Given the description of an element on the screen output the (x, y) to click on. 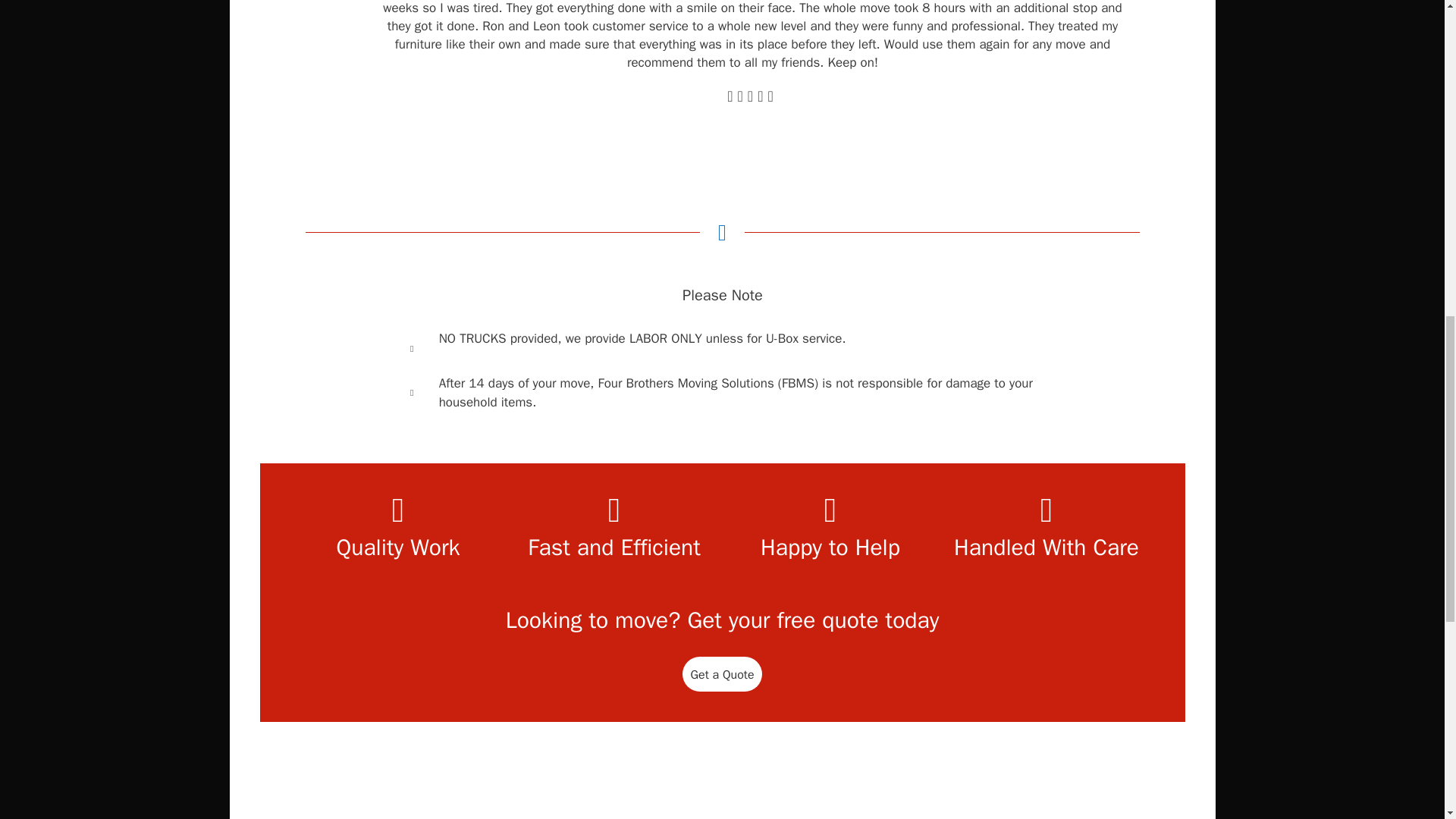
Get a Quote (721, 673)
